Given the description of an element on the screen output the (x, y) to click on. 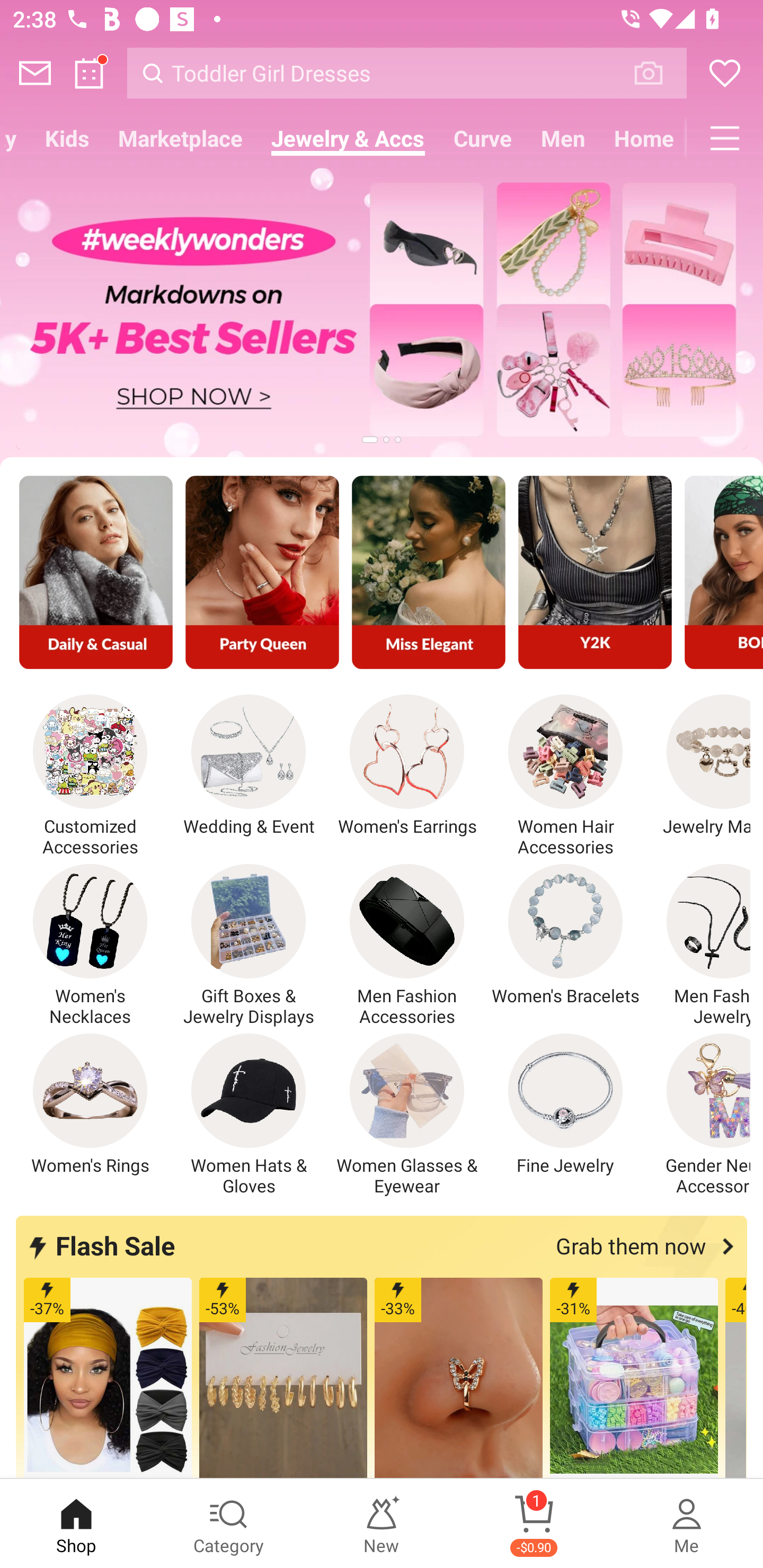
Wishlist (724, 72)
VISUAL SEARCH (657, 72)
Kids (66, 137)
Marketplace (180, 137)
Jewelry & Accs (348, 137)
Curve (482, 137)
Men (562, 137)
Home (642, 137)
Customized Accessories (89, 775)
Wedding & Event (248, 765)
Women's Earrings (406, 765)
Women Hair Accessories (565, 775)
Jewelry Making (698, 765)
Women's Necklaces (89, 945)
Gift Boxes & Jewelry Displays (248, 945)
Men Fashion Accessories (406, 945)
Women's Bracelets (565, 934)
Men Fashion Jewelry (698, 945)
Women's Rings (89, 1104)
Women Hats & Gloves (248, 1114)
Women Glasses & Eyewear (406, 1114)
Fine Jewelry (565, 1104)
Gender Neutral Accessories (698, 1114)
Category (228, 1523)
New (381, 1523)
Cart 1 -$0.90 (533, 1523)
Me (686, 1523)
